Given the description of an element on the screen output the (x, y) to click on. 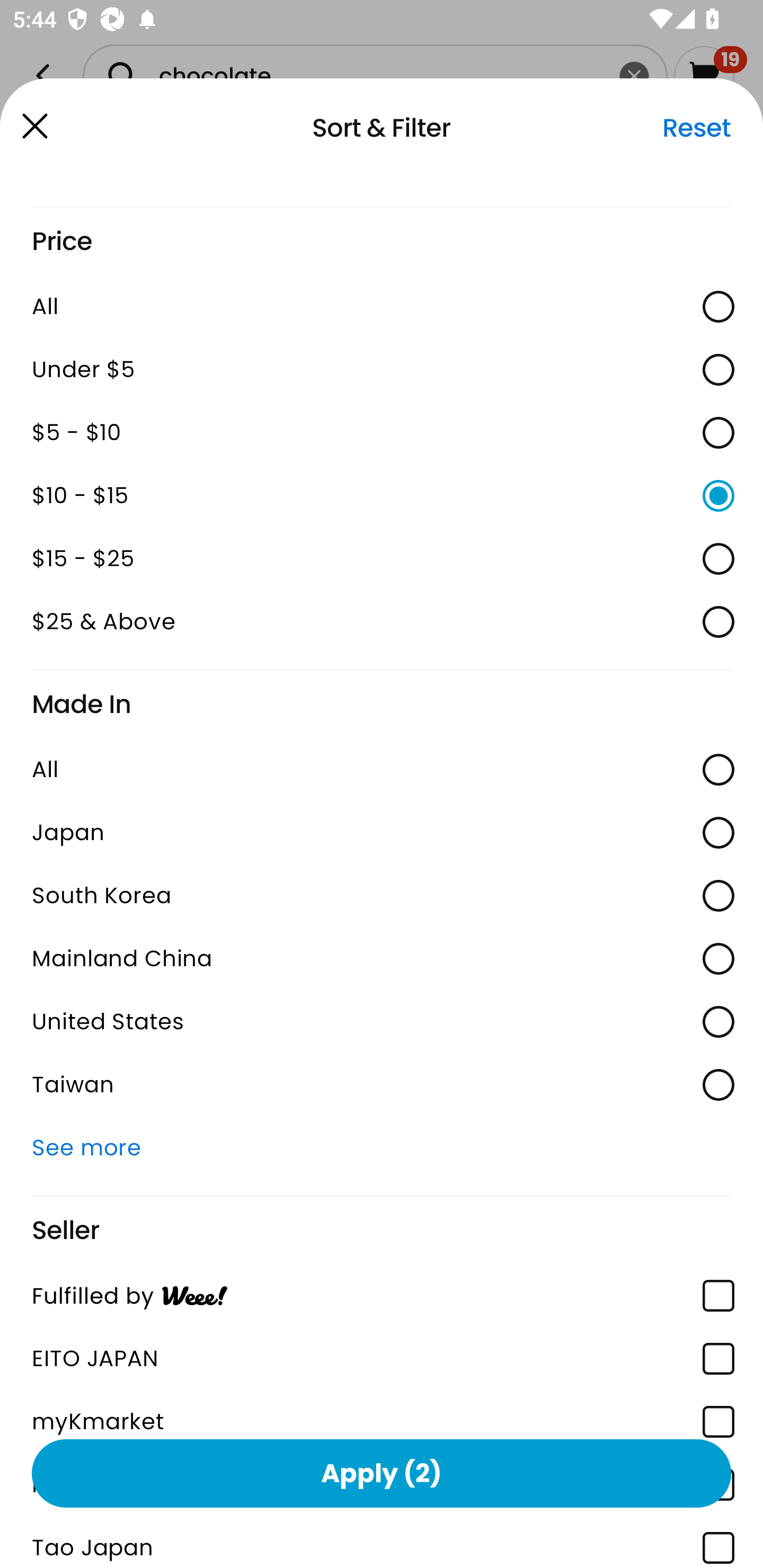
Reset (696, 127)
See more (381, 1147)
Apply (2) (381, 1472)
